Given the description of an element on the screen output the (x, y) to click on. 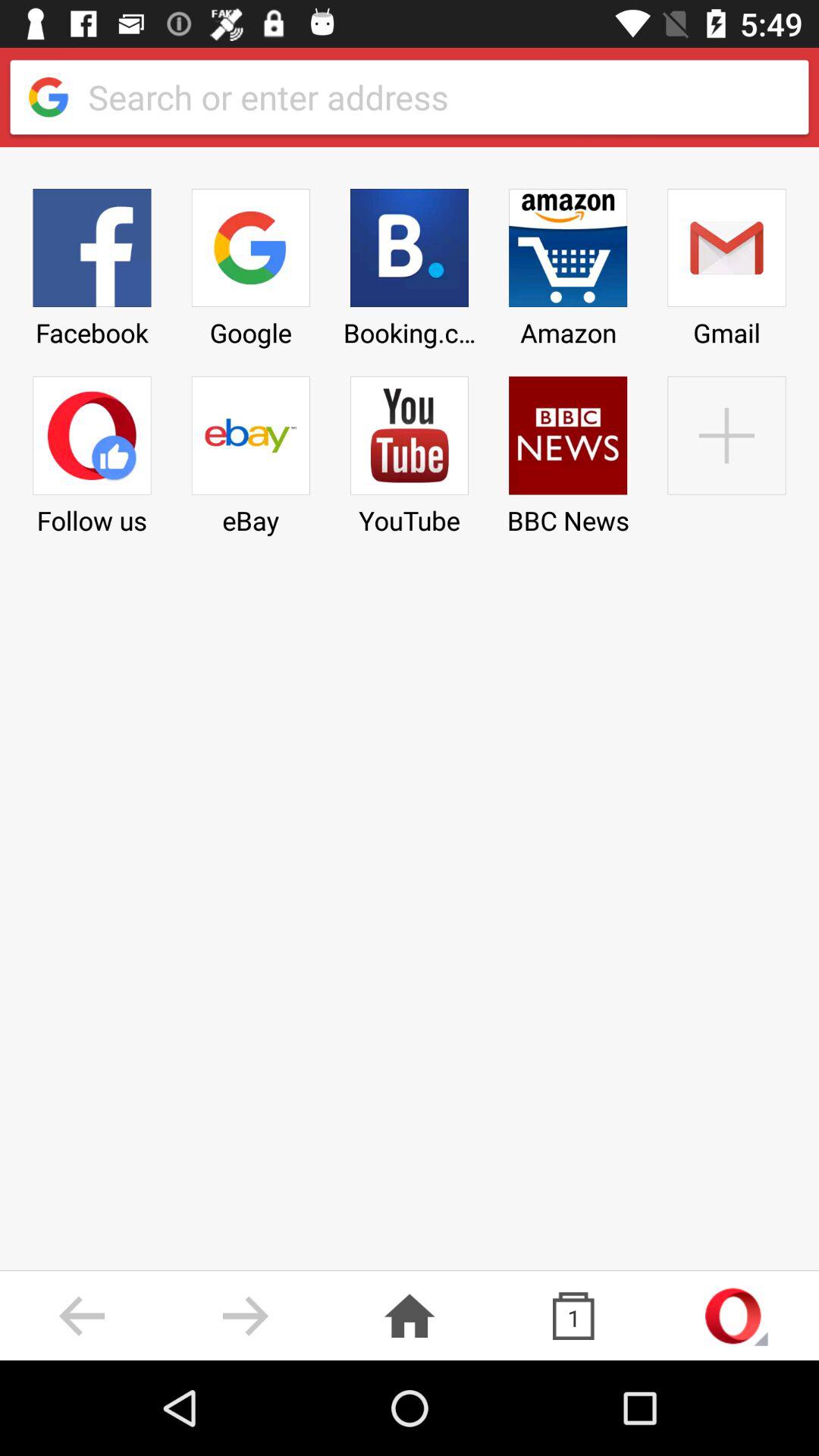
launch the item to the right of facebook item (250, 450)
